Given the description of an element on the screen output the (x, y) to click on. 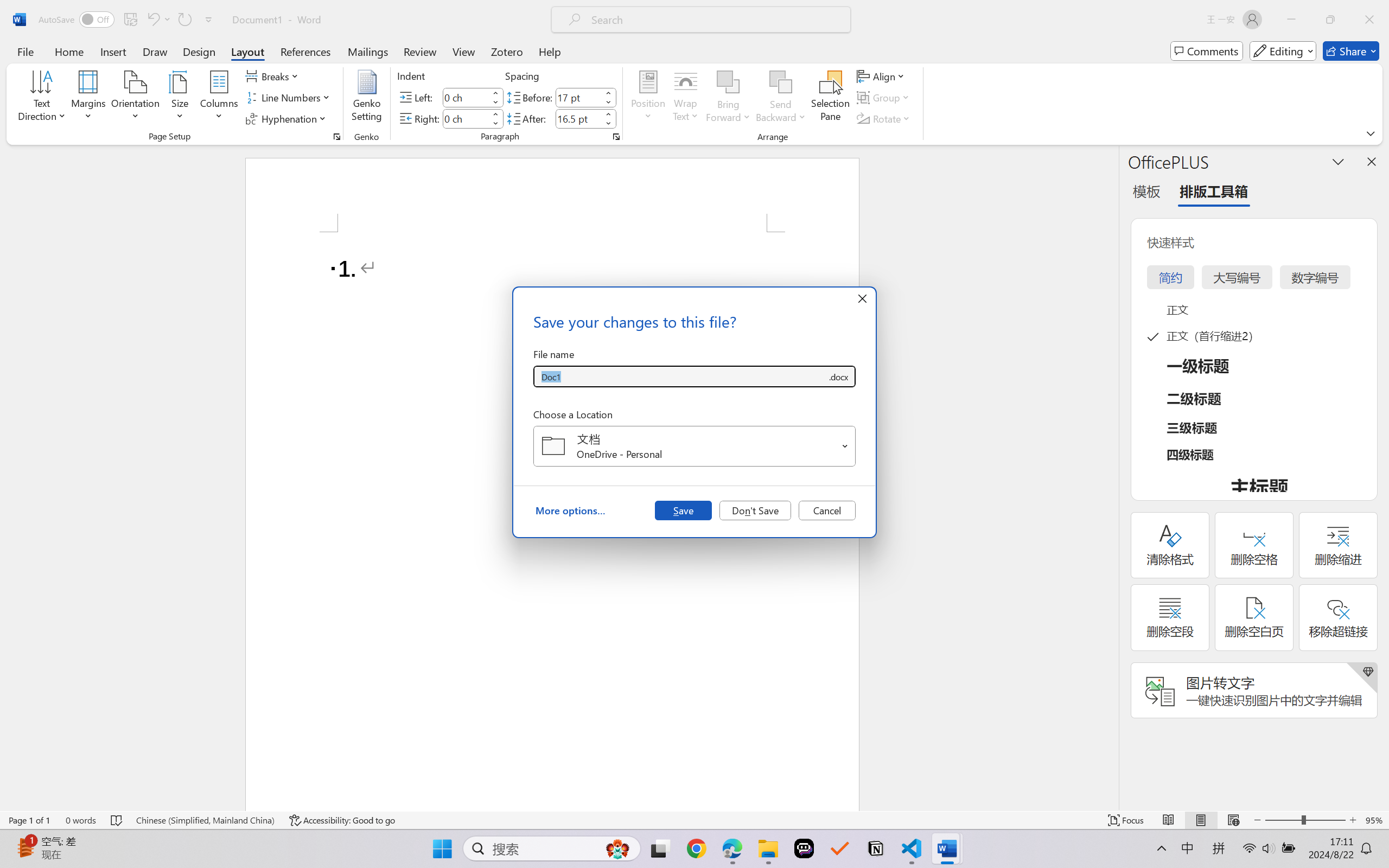
Microsoft search (715, 19)
Undo Number Default (158, 19)
Selection Pane... (830, 97)
Zoom 95% (1374, 819)
Undo Number Default (152, 19)
